Given the description of an element on the screen output the (x, y) to click on. 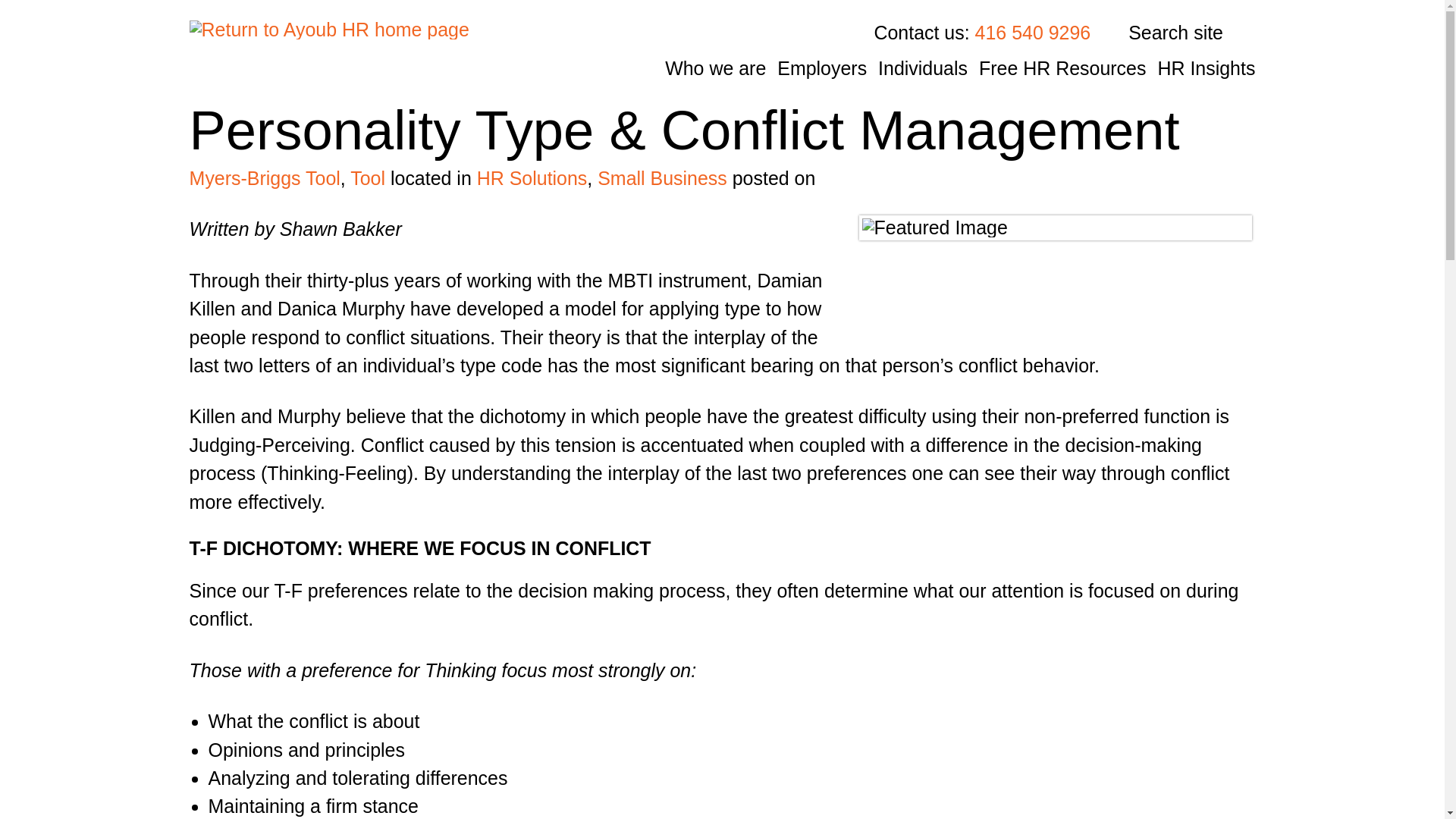
Who we are (715, 67)
HR Insights (1206, 67)
Employers (821, 67)
Pinterest (1110, 281)
Home (328, 49)
LinkedIn (1054, 281)
416 540 9296 (1032, 32)
Twitter (1000, 281)
Individuals (922, 67)
Free HR Resources (1061, 67)
